Given the description of an element on the screen output the (x, y) to click on. 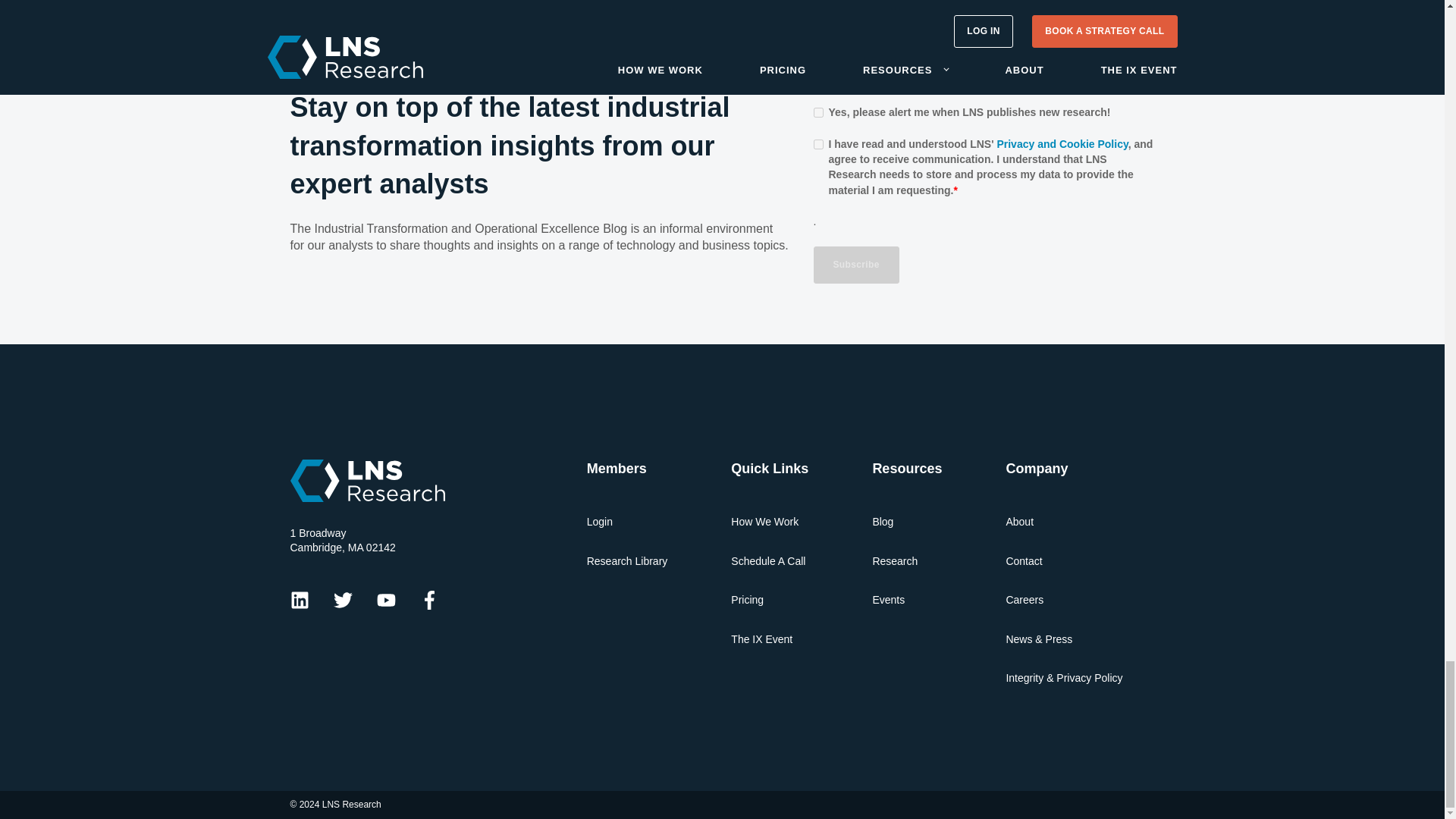
Subscribe (855, 264)
true (817, 112)
true (817, 144)
